Given the description of an element on the screen output the (x, y) to click on. 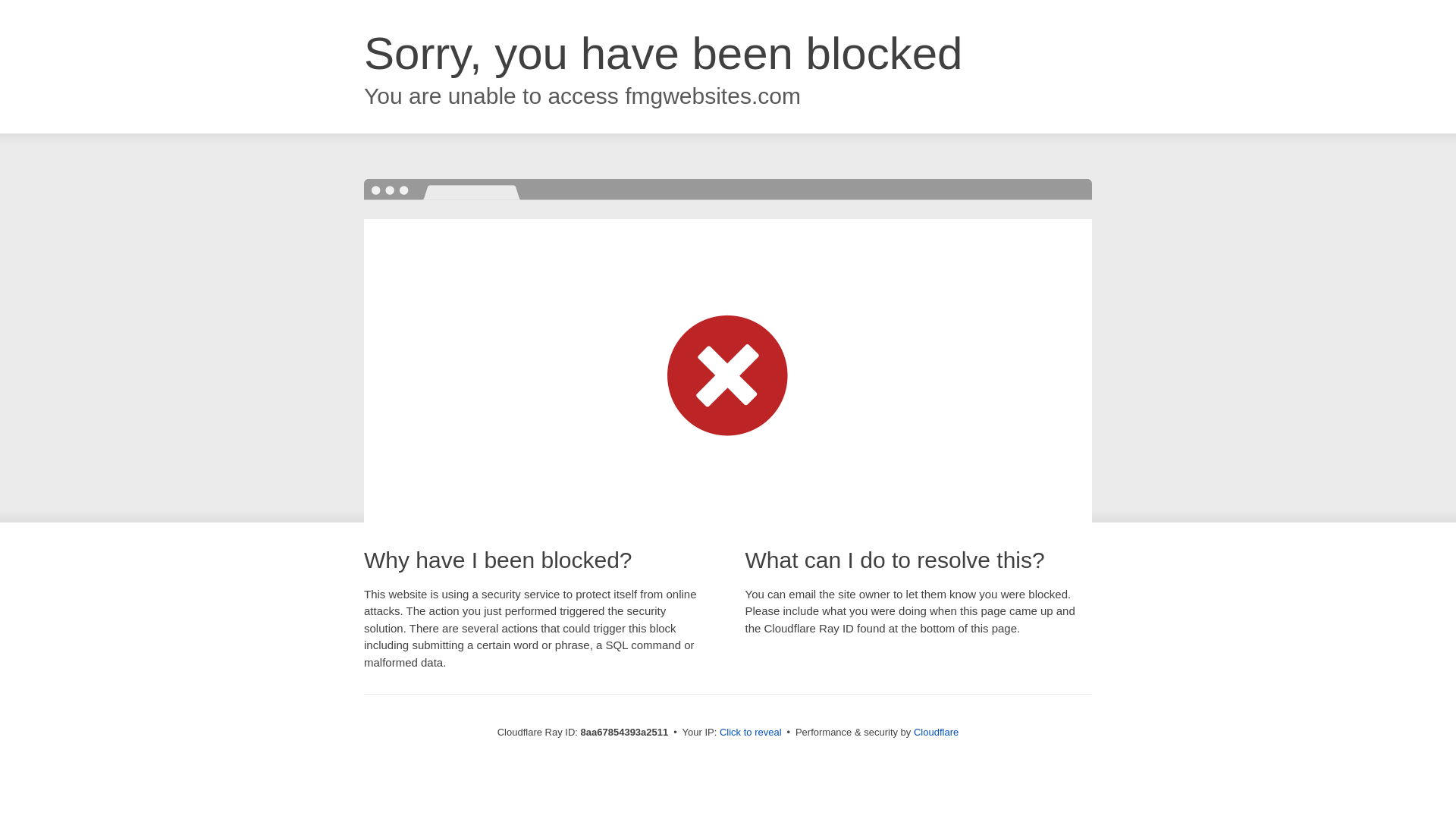
Cloudflare (936, 731)
Click to reveal (750, 732)
